Given the description of an element on the screen output the (x, y) to click on. 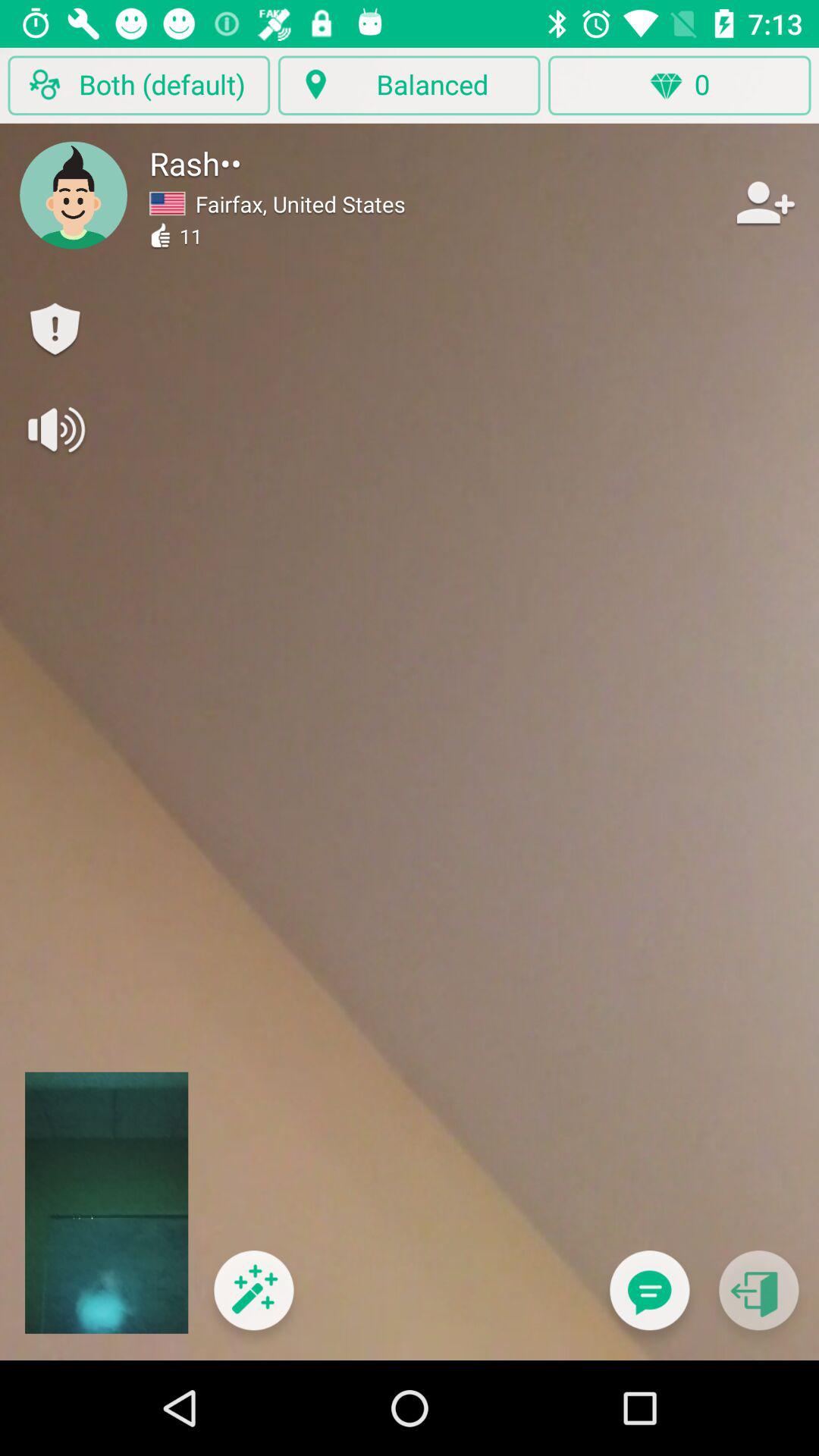
exit chat (758, 1300)
